Given the description of an element on the screen output the (x, y) to click on. 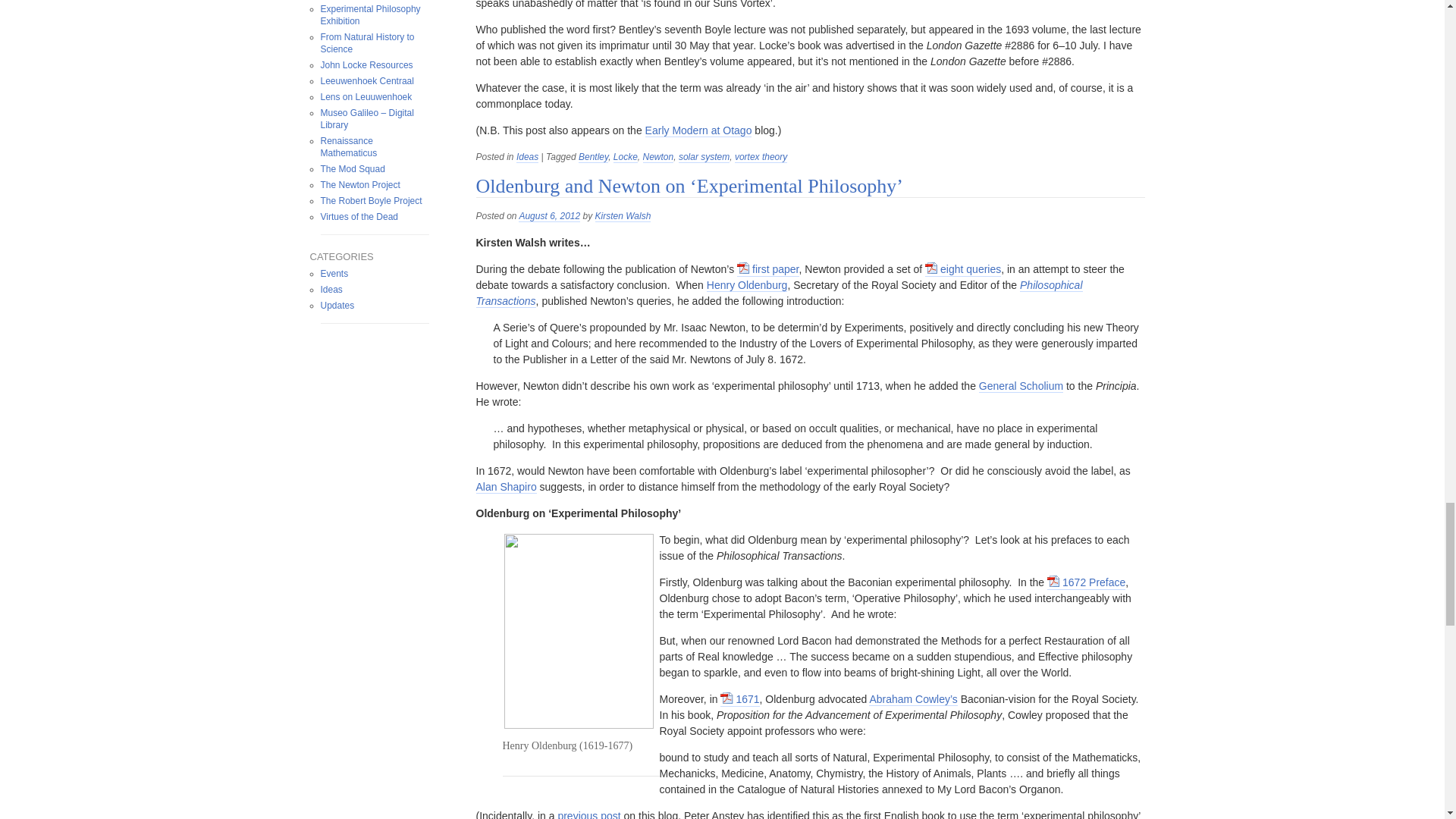
Galileian Museum, Florence (366, 118)
The Newton Project (359, 184)
Blog on the microscopist Antoni van Leeuwenhoek (366, 81)
English grave inscriptions (358, 216)
Information on the microscopist Antoni van Leeuwenhoek (366, 96)
John Locke Resources (366, 64)
Robert Boyle Project (371, 200)
